Given the description of an element on the screen output the (x, y) to click on. 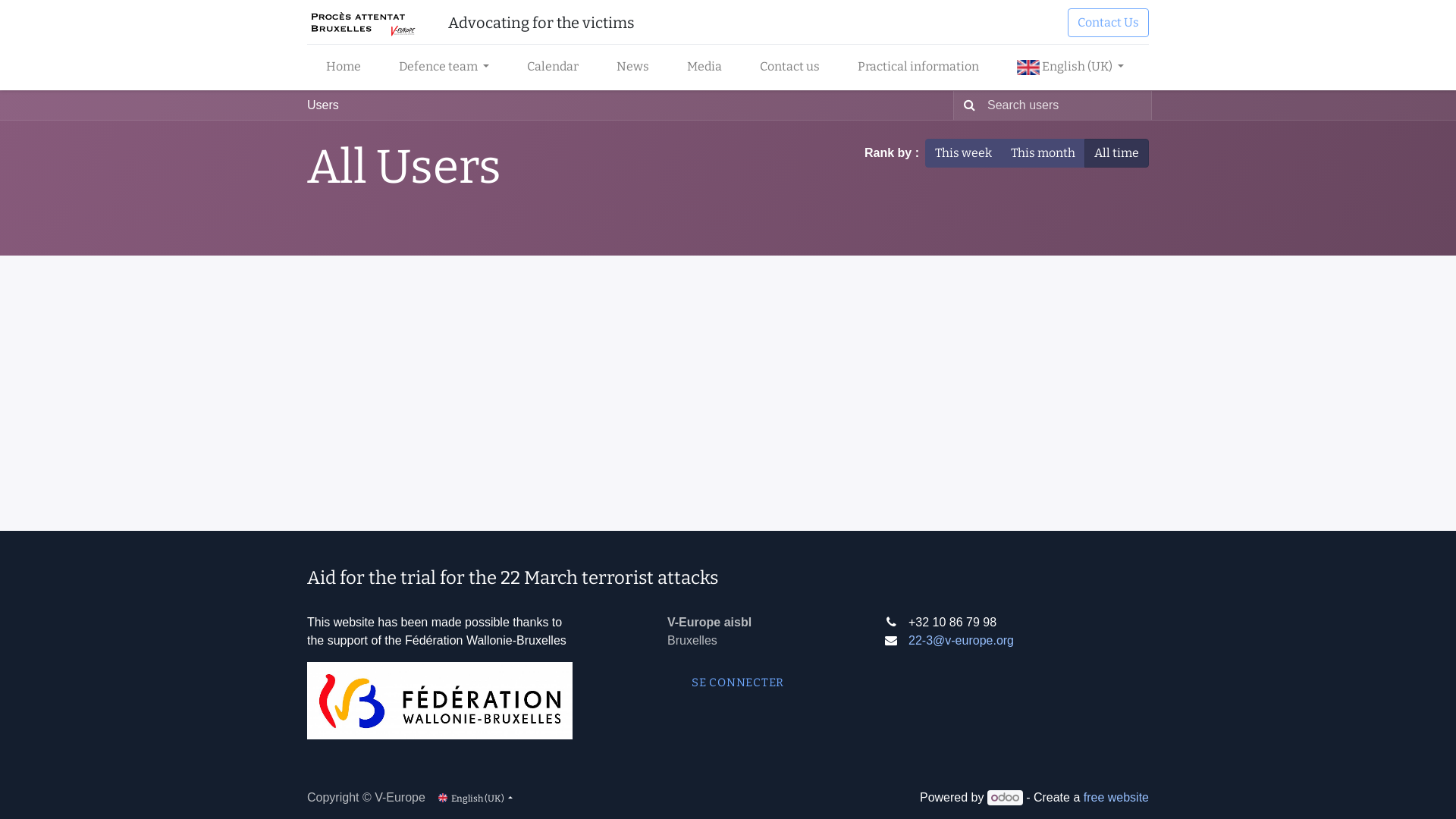
English (UK) Element type: text (1069, 66)
Home Element type: text (343, 66)
free website Element type: text (1115, 796)
All time Element type: text (1116, 152)
Contact us Element type: text (789, 66)
Defence team Element type: text (443, 66)
Users Element type: text (322, 104)
Practical information Element type: text (917, 66)
English (UK) Element type: text (474, 798)
News Element type: text (632, 66)
This month Element type: text (1043, 152)
Search Element type: hover (966, 105)
English (UK) Element type: hover (1027, 67)
Media Element type: text (704, 66)
This week Element type: text (963, 152)
22-3@v-europe.org Element type: text (960, 639)
Contact Us Element type: text (1107, 22)
Calendar Element type: text (552, 66)
22-3.be Element type: hover (362, 22)
SE CONNECTER Element type: text (737, 682)
